Given the description of an element on the screen output the (x, y) to click on. 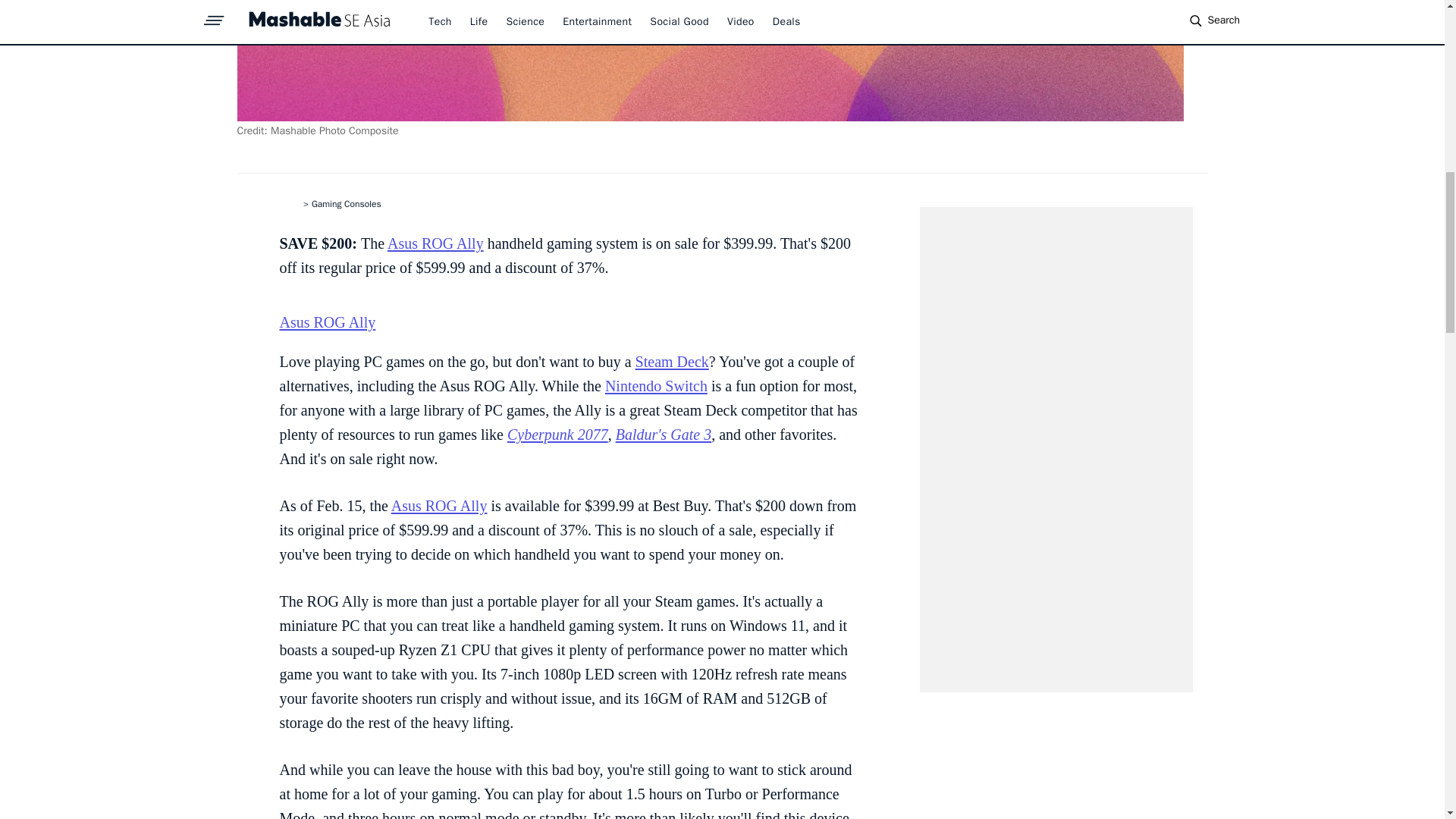
Baldur's Gate 3 (663, 434)
Steam Deck (671, 361)
Cyberpunk 2077 (557, 434)
Asus ROG Ally (439, 505)
Nintendo Switch (656, 385)
Asus ROG Ally (327, 321)
Asus ROG Ally (435, 243)
3rd party ad content (1055, 449)
